Given the description of an element on the screen output the (x, y) to click on. 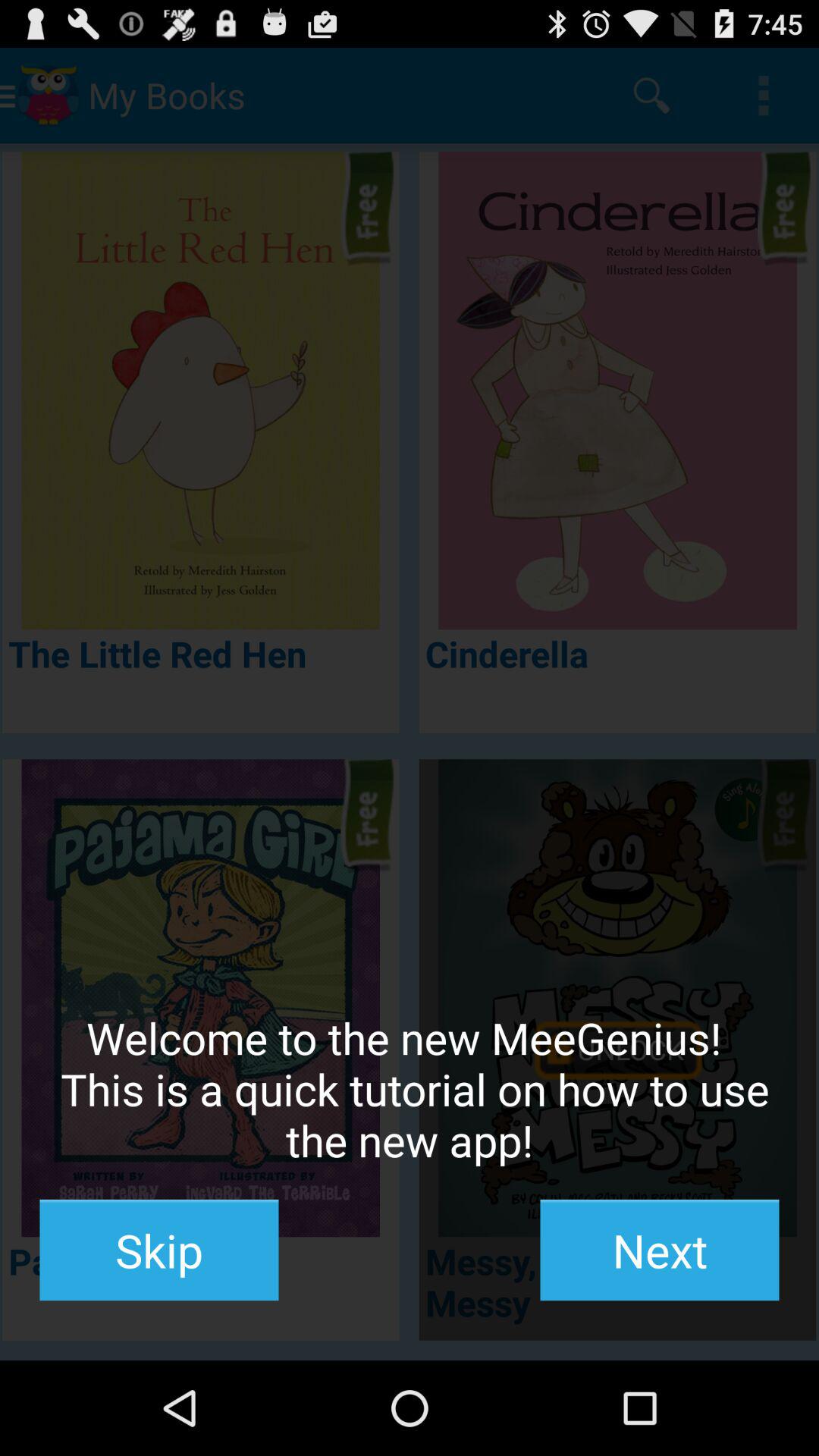
select next item (659, 1249)
